Given the description of an element on the screen output the (x, y) to click on. 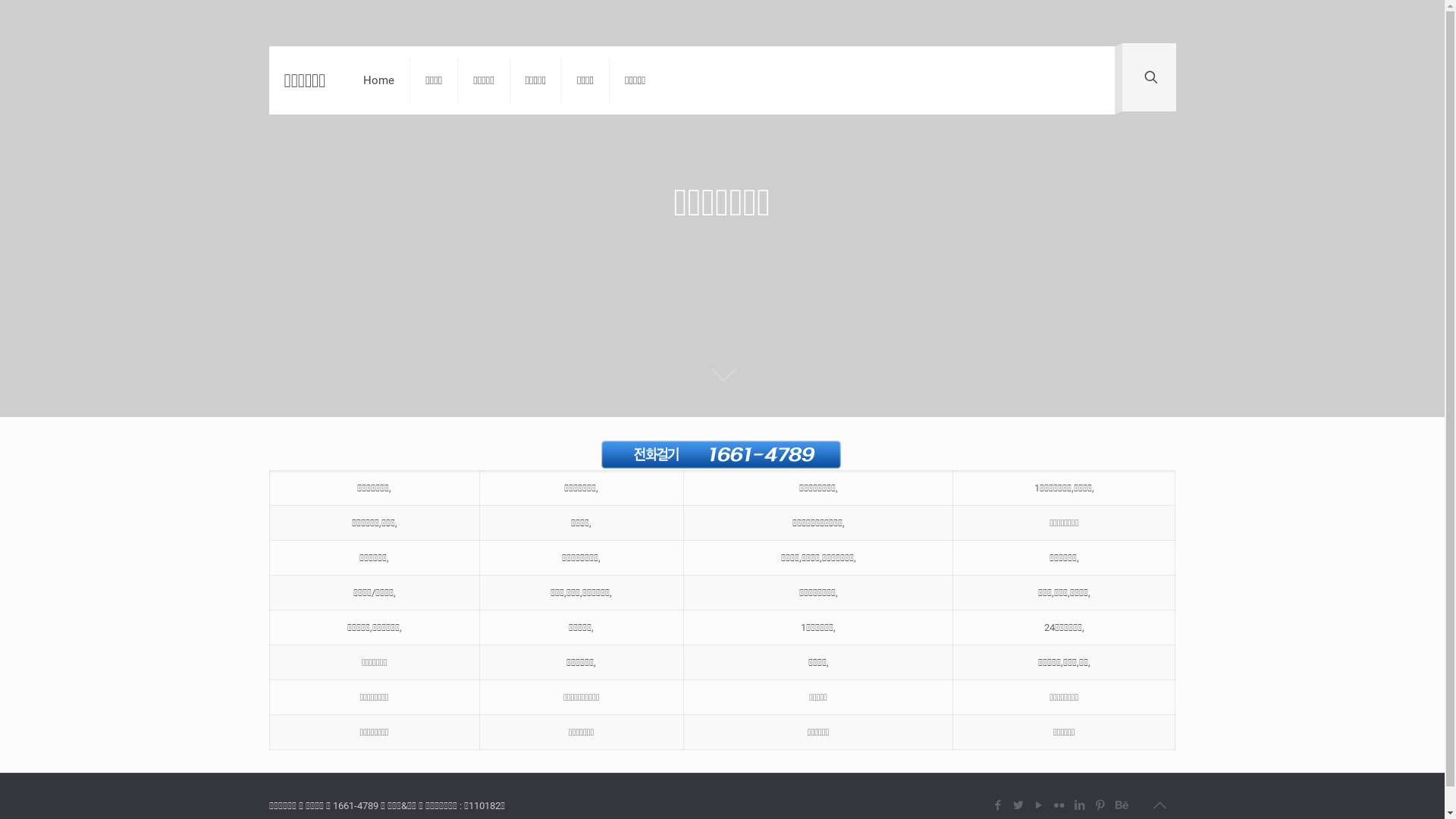
Twitter Element type: hover (1018, 805)
LinkedIn Element type: hover (1080, 805)
YouTube Element type: hover (1039, 805)
Flickr Element type: hover (1058, 805)
Facebook Element type: hover (998, 805)
Pinterest Element type: hover (1099, 805)
Home Element type: text (379, 80)
Behance Element type: hover (1121, 805)
